Given the description of an element on the screen output the (x, y) to click on. 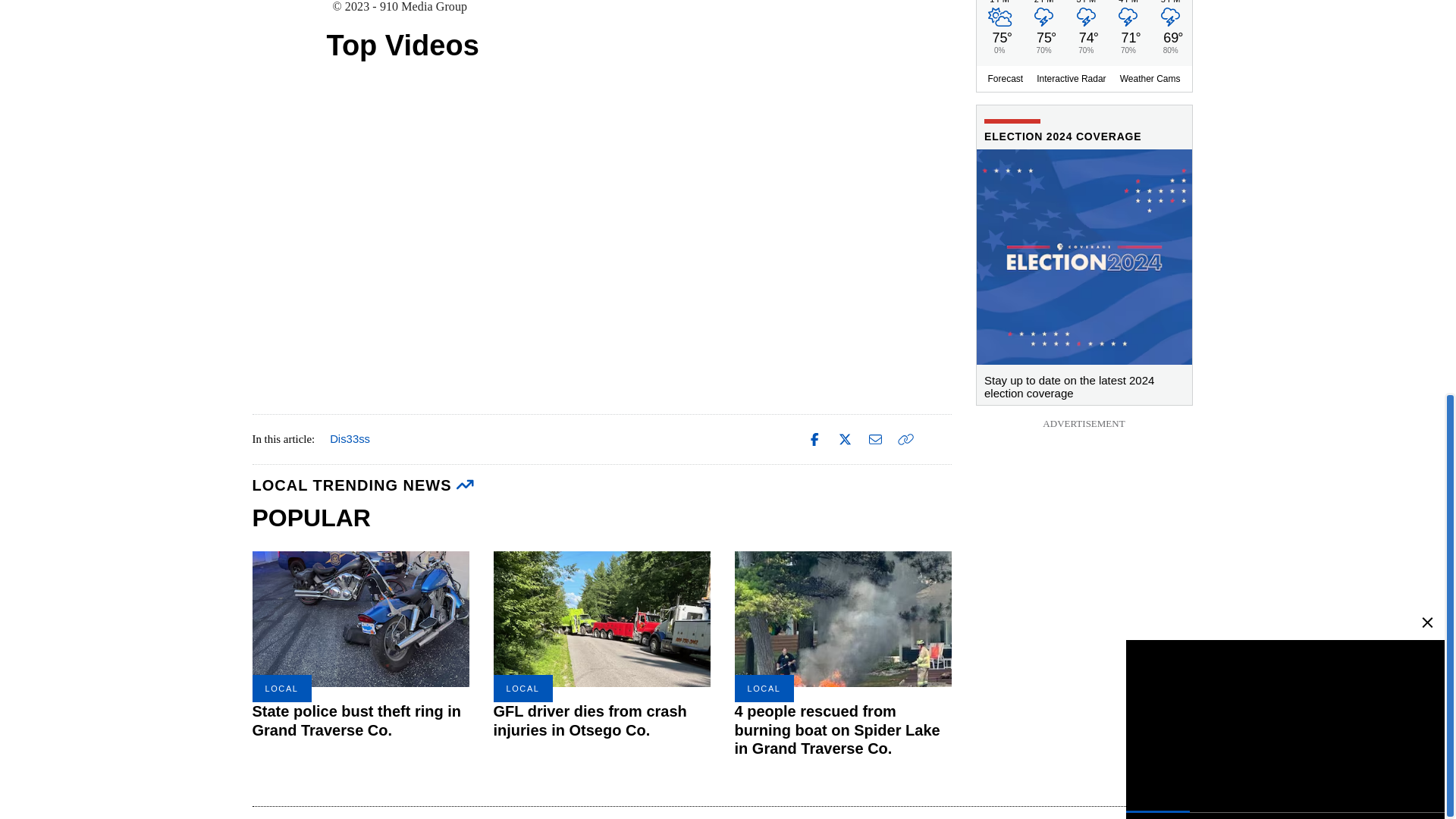
Showers and Thunderstorms (1086, 20)
State police bust theft ring in Grand Traverse Co.  (359, 619)
Showers and Thunderstorms (1169, 20)
Election 2024 Coverage (1084, 381)
Mostly Cloudy (998, 20)
Showers and Thunderstorms (1042, 20)
Election 2024 Coverage (1084, 256)
GFL driver dies from crash injuries in Otsego Co. (601, 619)
Showers and Thunderstorms (1127, 20)
